Given the description of an element on the screen output the (x, y) to click on. 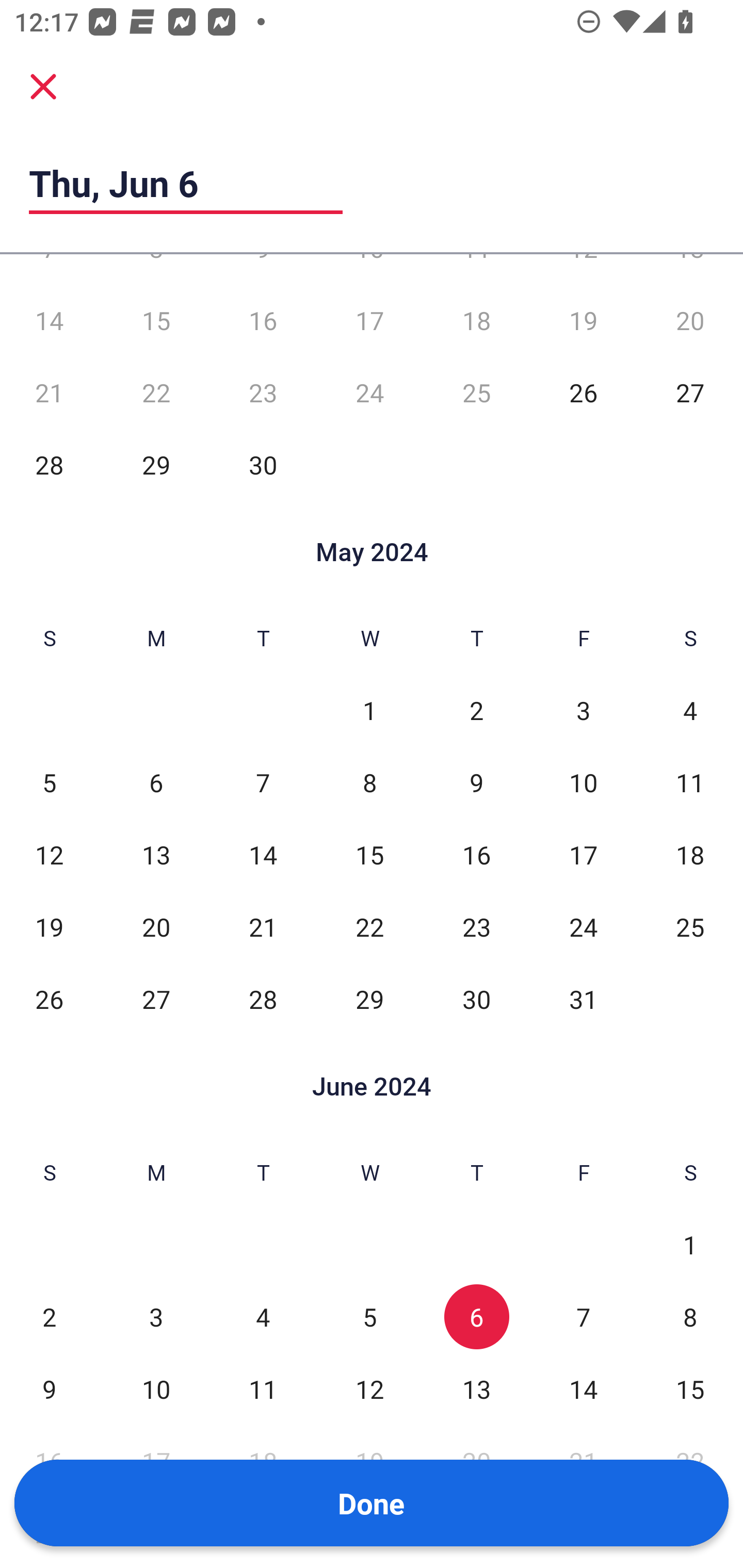
Cancel (43, 86)
Thu, Jun 6 (185, 182)
14 Sun, Apr 14, Not Selected (49, 319)
15 Mon, Apr 15, Not Selected (156, 319)
16 Tue, Apr 16, Not Selected (263, 319)
17 Wed, Apr 17, Not Selected (369, 319)
18 Thu, Apr 18, Not Selected (476, 319)
19 Fri, Apr 19, Not Selected (583, 319)
20 Sat, Apr 20, Not Selected (690, 319)
21 Sun, Apr 21, Not Selected (49, 391)
22 Mon, Apr 22, Not Selected (156, 391)
23 Tue, Apr 23, Not Selected (263, 391)
24 Wed, Apr 24, Not Selected (369, 391)
25 Thu, Apr 25, Not Selected (476, 391)
26 Fri, Apr 26, Not Selected (583, 391)
27 Sat, Apr 27, Not Selected (690, 391)
28 Sun, Apr 28, Not Selected (49, 464)
29 Mon, Apr 29, Not Selected (156, 464)
30 Tue, Apr 30, Not Selected (263, 464)
1 Wed, May 1, Not Selected (369, 710)
2 Thu, May 2, Not Selected (476, 710)
3 Fri, May 3, Not Selected (583, 710)
4 Sat, May 4, Not Selected (690, 710)
5 Sun, May 5, Not Selected (49, 782)
6 Mon, May 6, Not Selected (156, 782)
7 Tue, May 7, Not Selected (263, 782)
8 Wed, May 8, Not Selected (369, 782)
9 Thu, May 9, Not Selected (476, 782)
10 Fri, May 10, Not Selected (583, 782)
11 Sat, May 11, Not Selected (690, 782)
12 Sun, May 12, Not Selected (49, 854)
13 Mon, May 13, Not Selected (156, 854)
14 Tue, May 14, Not Selected (263, 854)
15 Wed, May 15, Not Selected (369, 854)
16 Thu, May 16, Not Selected (476, 854)
17 Fri, May 17, Not Selected (583, 854)
18 Sat, May 18, Not Selected (690, 854)
19 Sun, May 19, Not Selected (49, 926)
20 Mon, May 20, Not Selected (156, 926)
21 Tue, May 21, Not Selected (263, 926)
22 Wed, May 22, Not Selected (369, 926)
23 Thu, May 23, Not Selected (476, 926)
24 Fri, May 24, Not Selected (583, 926)
25 Sat, May 25, Not Selected (690, 926)
26 Sun, May 26, Not Selected (49, 998)
27 Mon, May 27, Not Selected (156, 998)
28 Tue, May 28, Not Selected (263, 998)
29 Wed, May 29, Not Selected (369, 998)
30 Thu, May 30, Not Selected (476, 998)
31 Fri, May 31, Not Selected (583, 998)
